Given the description of an element on the screen output the (x, y) to click on. 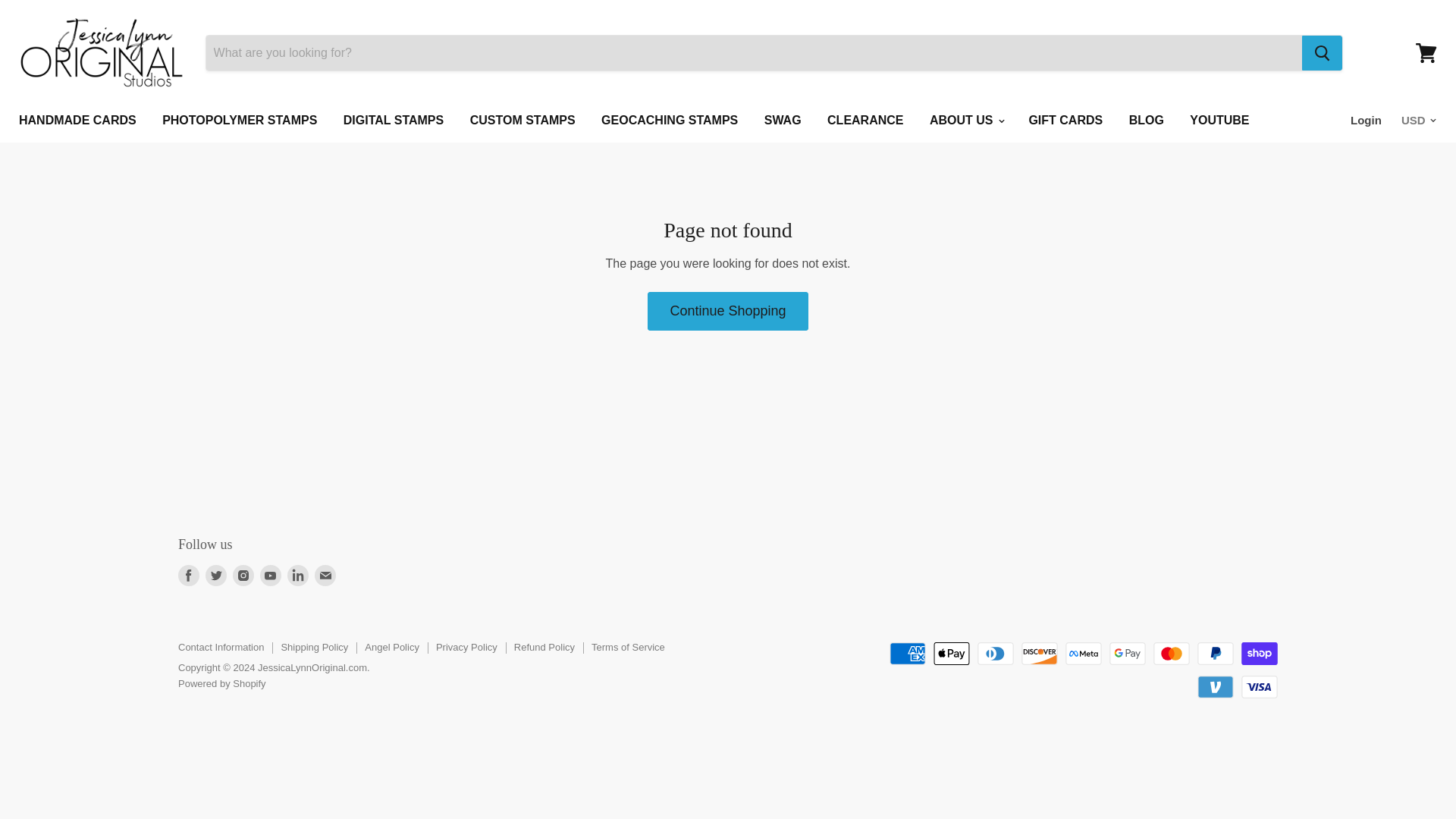
View cart (1425, 53)
Discover (1040, 653)
Google Pay (1127, 653)
PayPal (1214, 653)
Login (1365, 120)
Instagram (243, 574)
ABOUT US (965, 120)
Apple Pay (951, 653)
Mastercard (1171, 653)
American Express (907, 653)
